Given the description of an element on the screen output the (x, y) to click on. 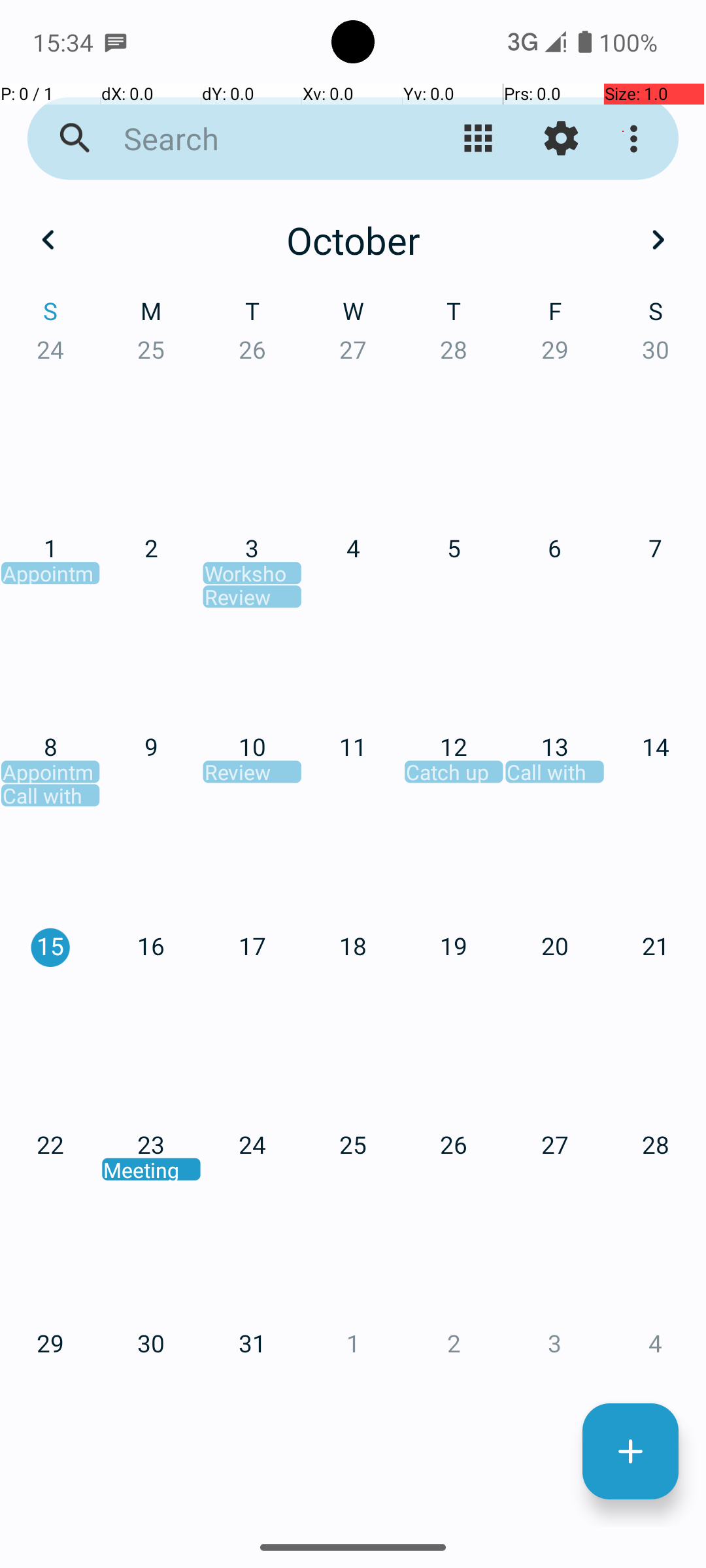
Change view Element type: android.widget.Button (477, 138)
New Event Element type: android.widget.ImageButton (630, 1451)
October Element type: android.widget.TextView (352, 239)
